Given the description of an element on the screen output the (x, y) to click on. 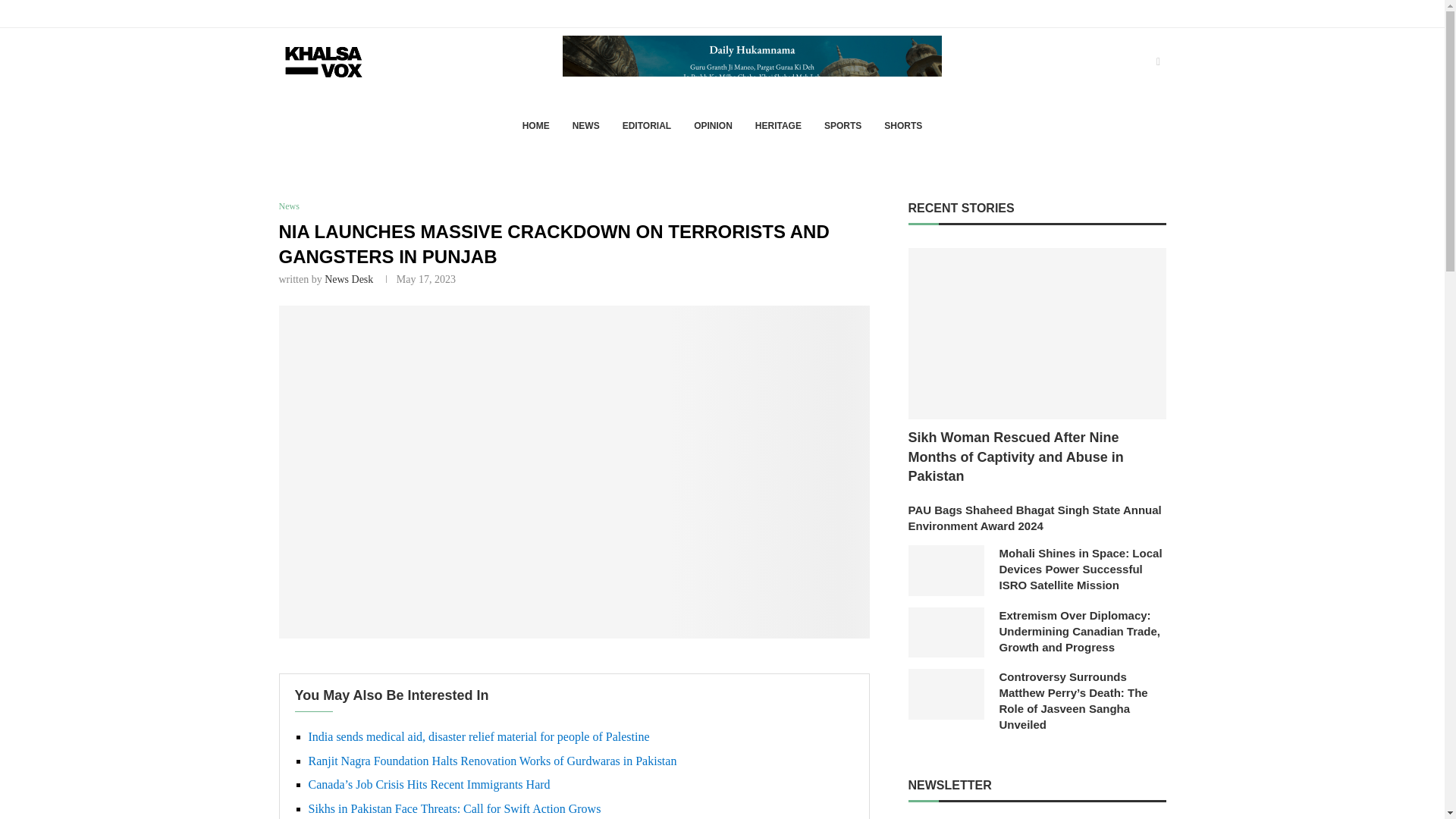
HERITAGE (778, 126)
EDITORIAL (647, 126)
